Given the description of an element on the screen output the (x, y) to click on. 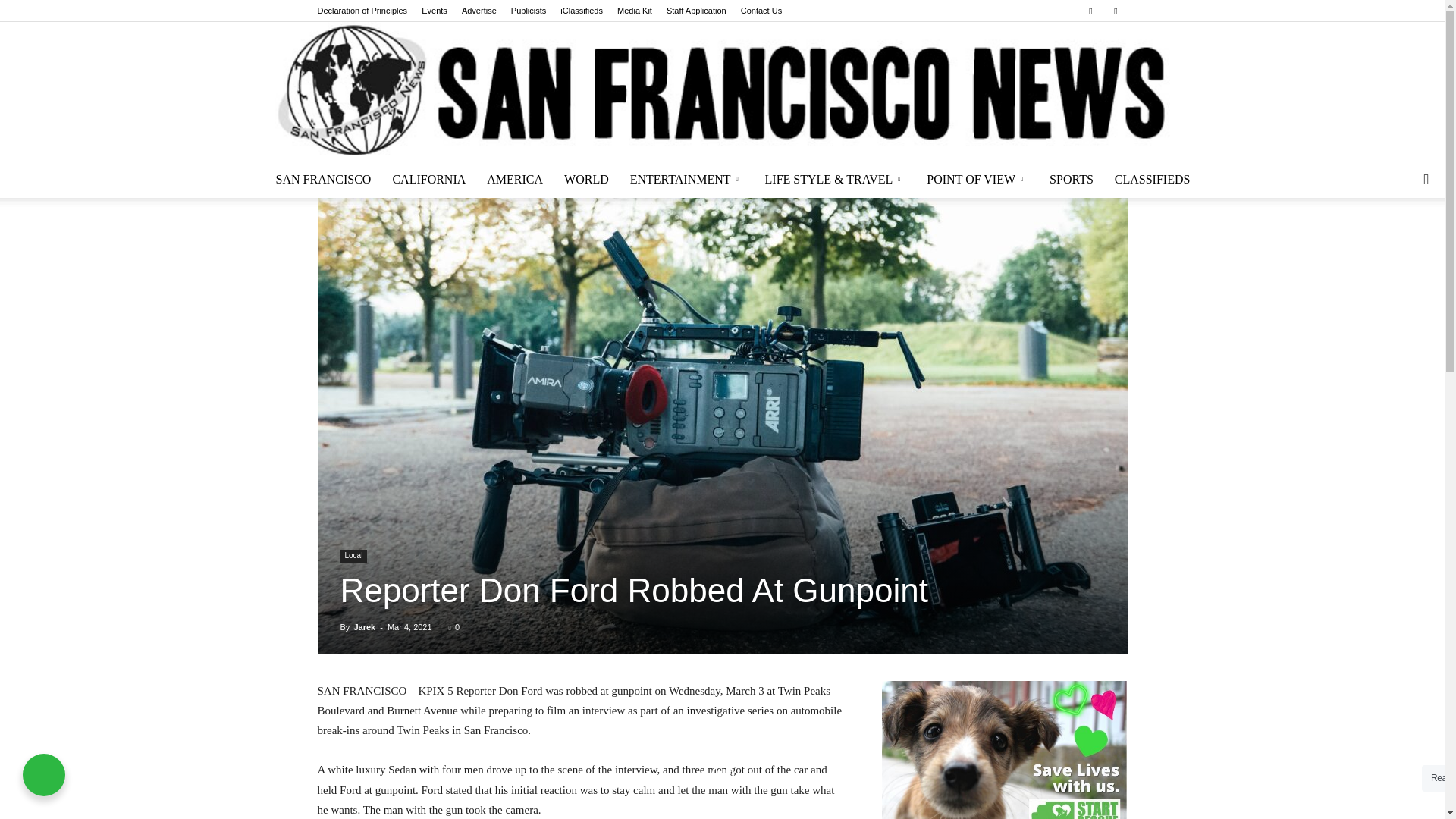
Events (434, 10)
Twitter (1114, 10)
Staff Application (696, 10)
Facebook (1090, 10)
iClassifieds (581, 10)
Contact Us (761, 10)
Advertise (478, 10)
Media Kit (634, 10)
Publicists (528, 10)
Declaration of Principles (362, 10)
